Given the description of an element on the screen output the (x, y) to click on. 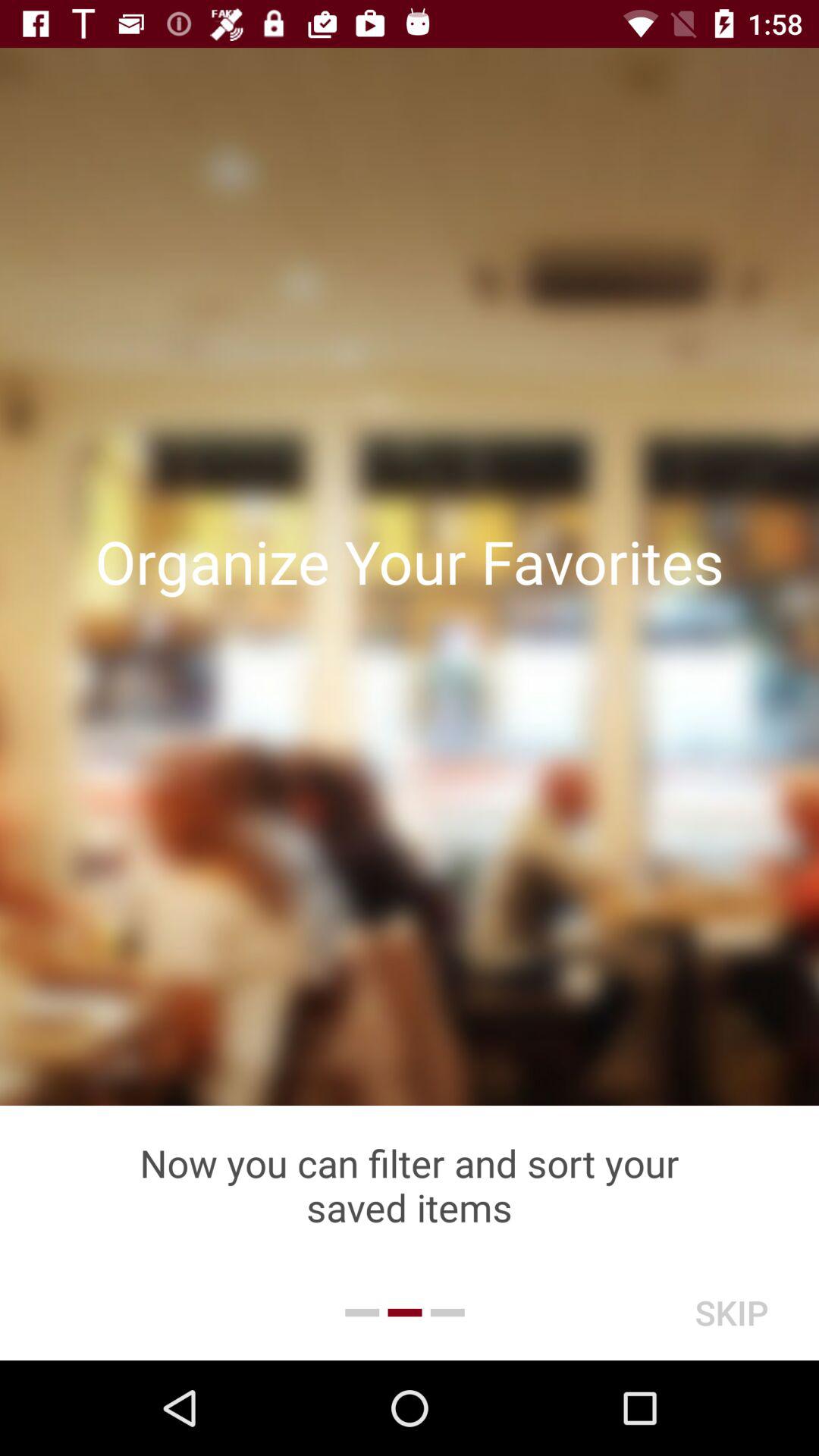
turn on the item below the now you can item (731, 1312)
